Given the description of an element on the screen output the (x, y) to click on. 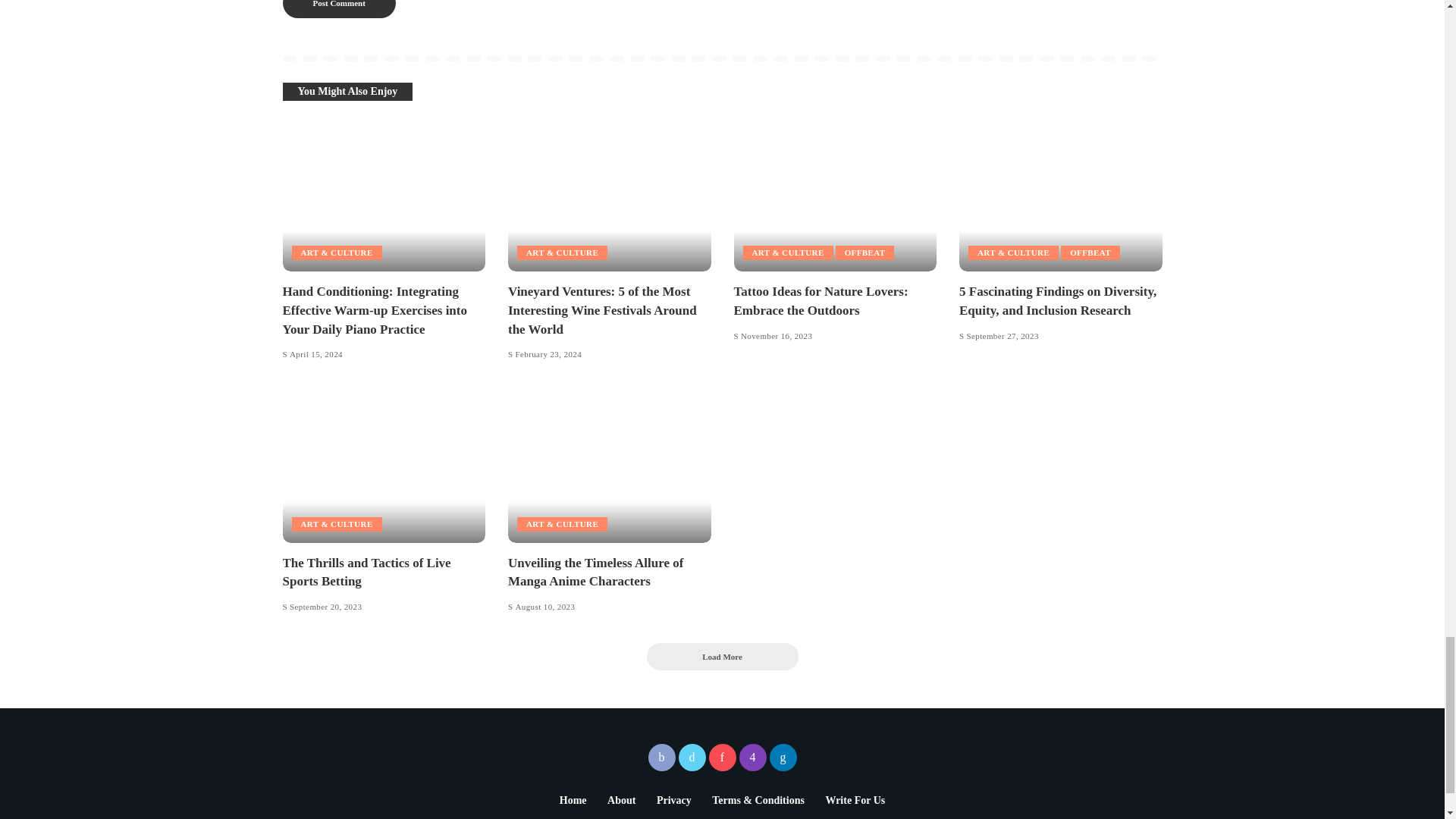
Post Comment (338, 9)
